Given the description of an element on the screen output the (x, y) to click on. 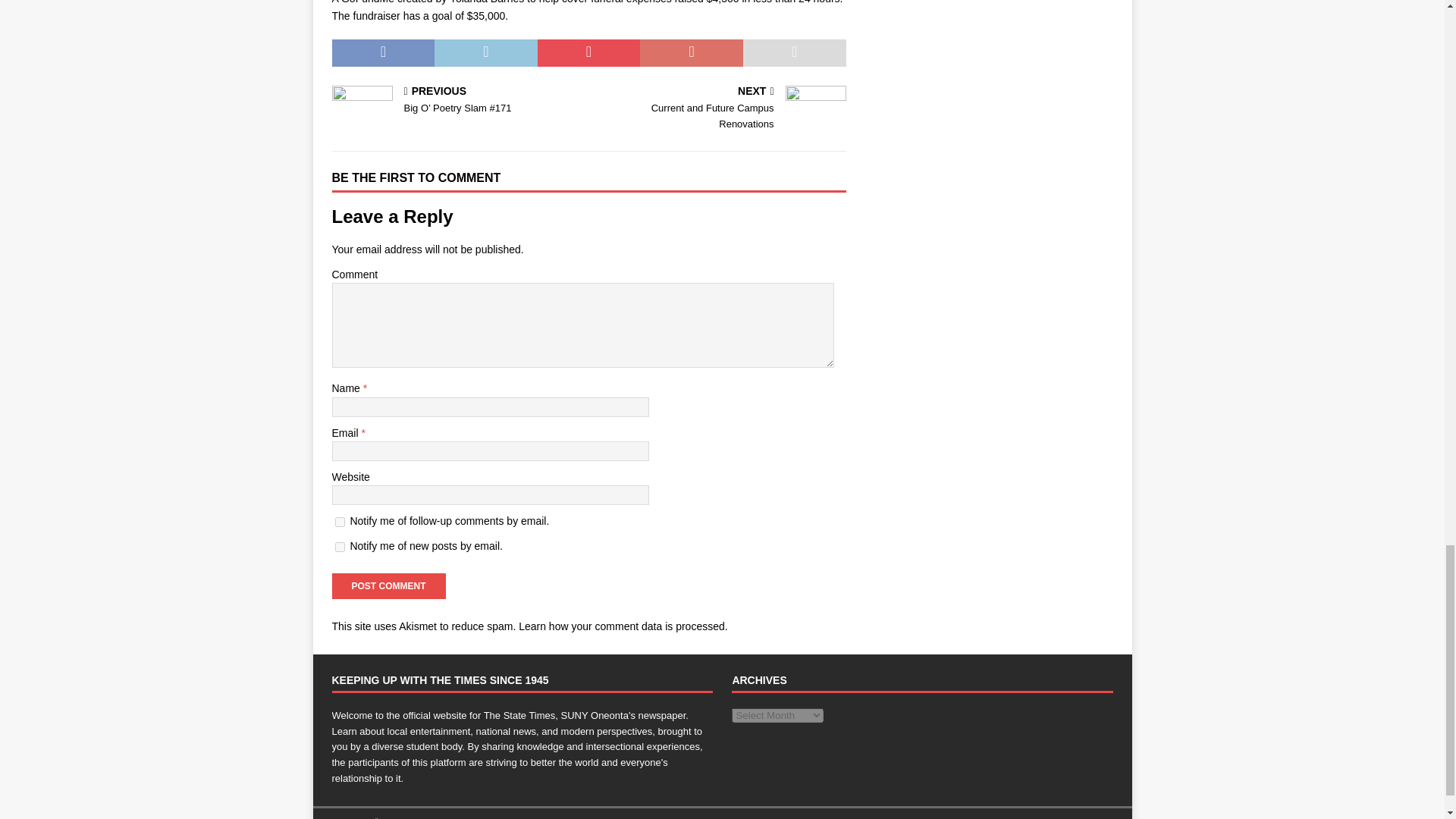
subscribe (339, 547)
Post Comment (388, 585)
subscribe (339, 521)
